Given the description of an element on the screen output the (x, y) to click on. 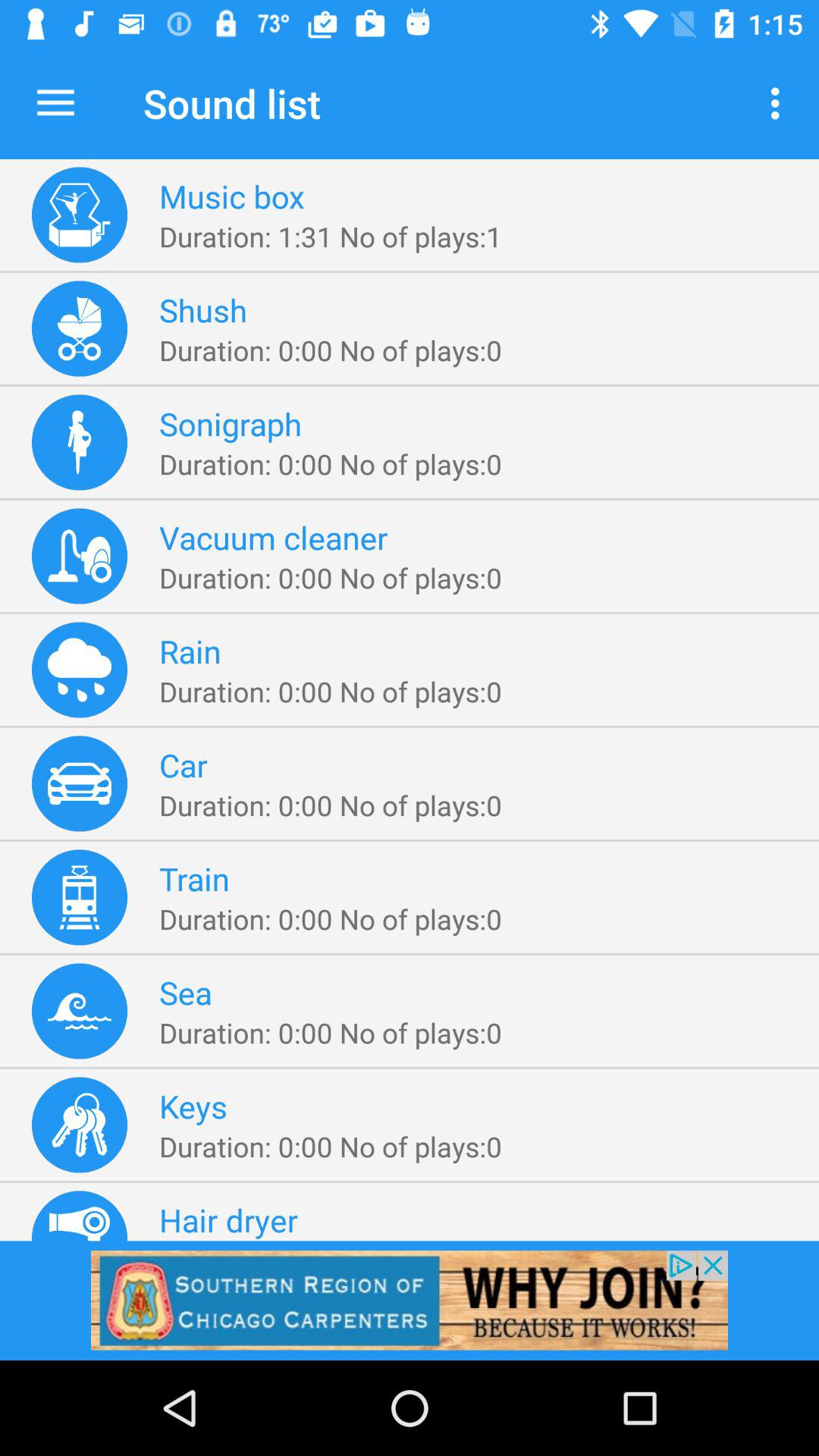
select the icon which is left side of the shush (79, 329)
